Given the description of an element on the screen output the (x, y) to click on. 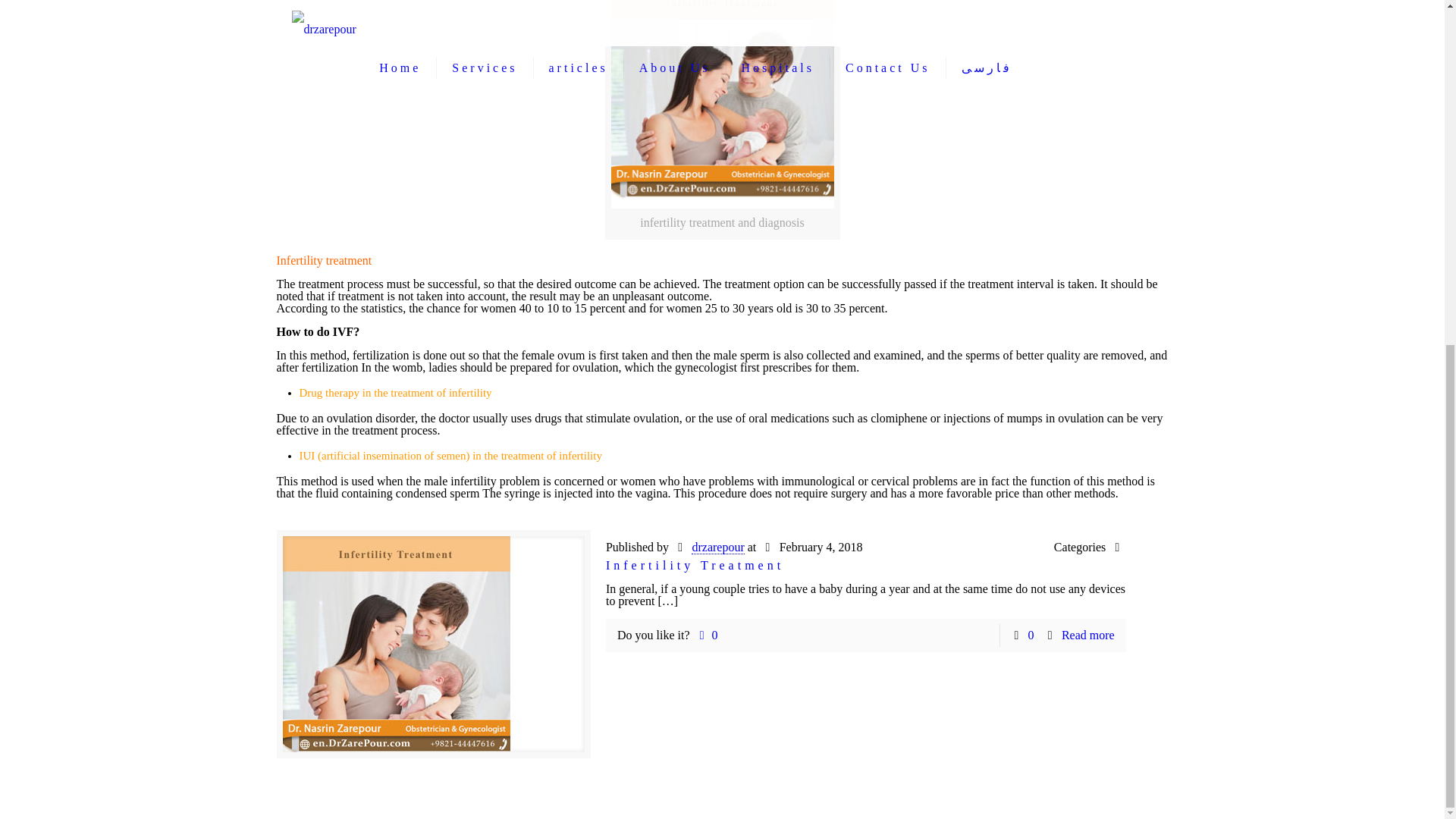
0 (705, 635)
Read more (1088, 634)
drzarepour (717, 547)
Infertility treatment (323, 259)
Infertility Treatment (694, 564)
